Given the description of an element on the screen output the (x, y) to click on. 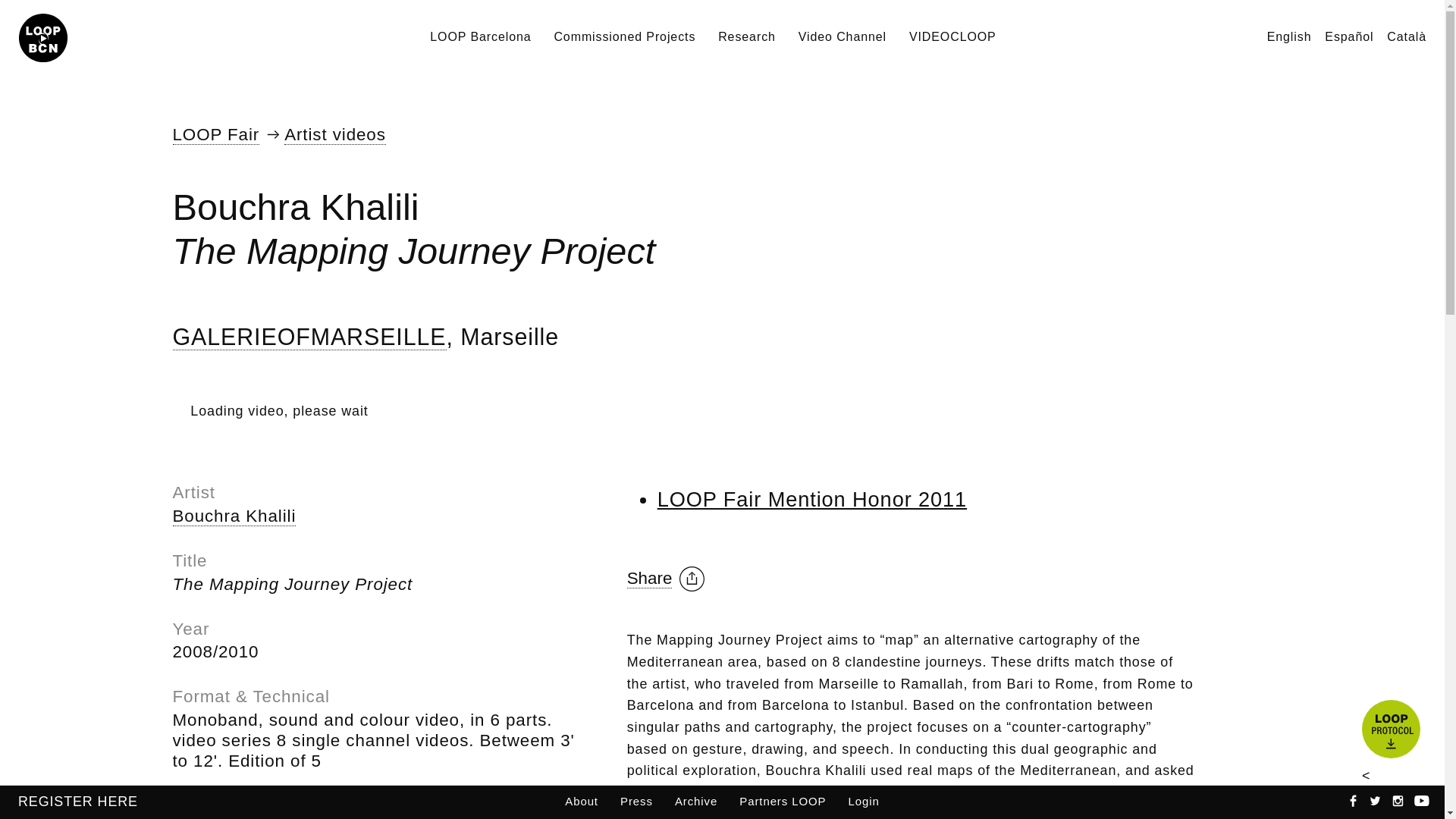
Video Channel (841, 37)
LOOP Barcelona (480, 37)
VIDEOCLOOP (951, 37)
Commissioned Projects (624, 37)
Research (746, 37)
